Given the description of an element on the screen output the (x, y) to click on. 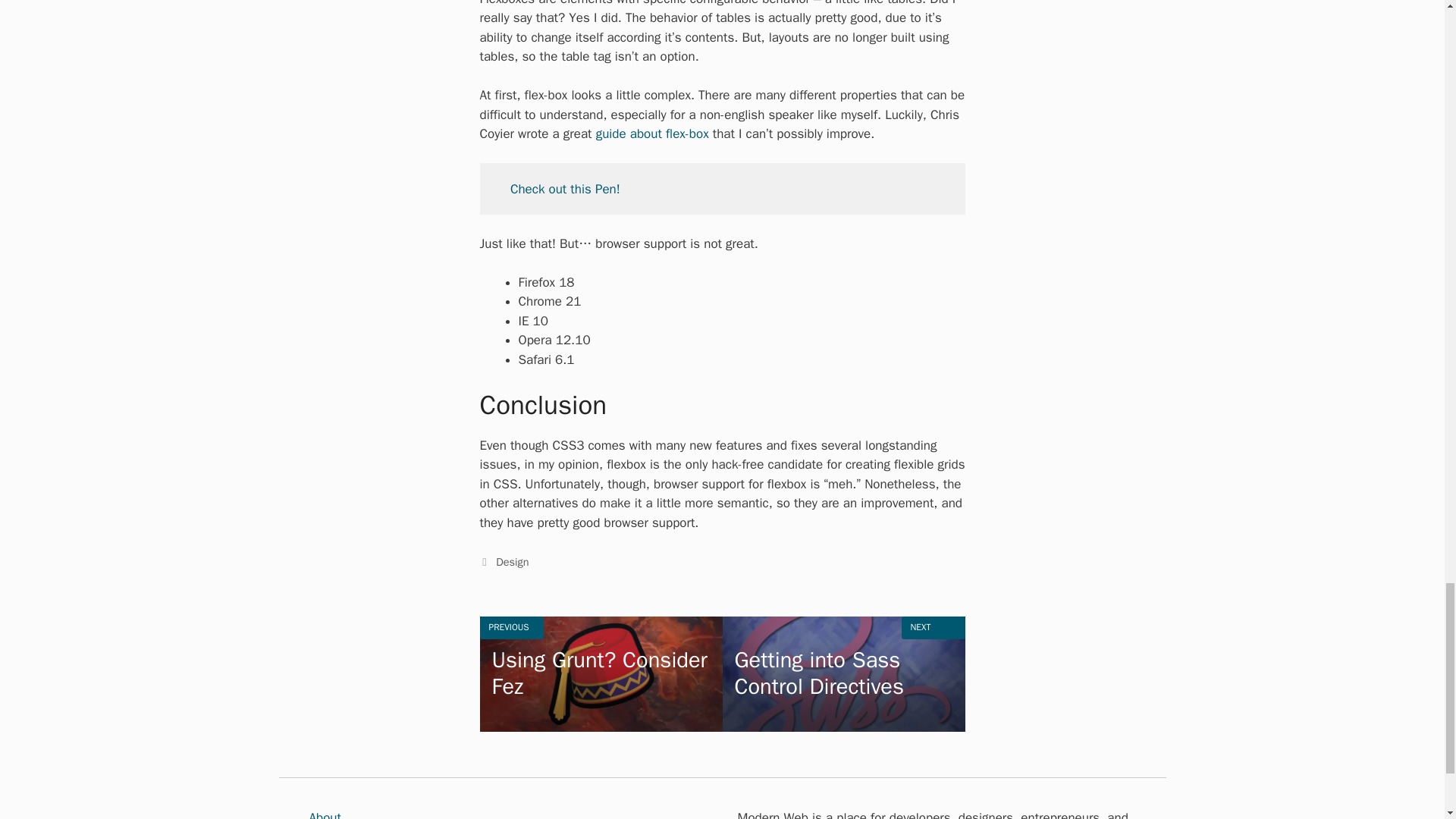
About (324, 814)
Check out this Pen! (565, 188)
Design (842, 674)
guide about flex-box (600, 674)
